Given the description of an element on the screen output the (x, y) to click on. 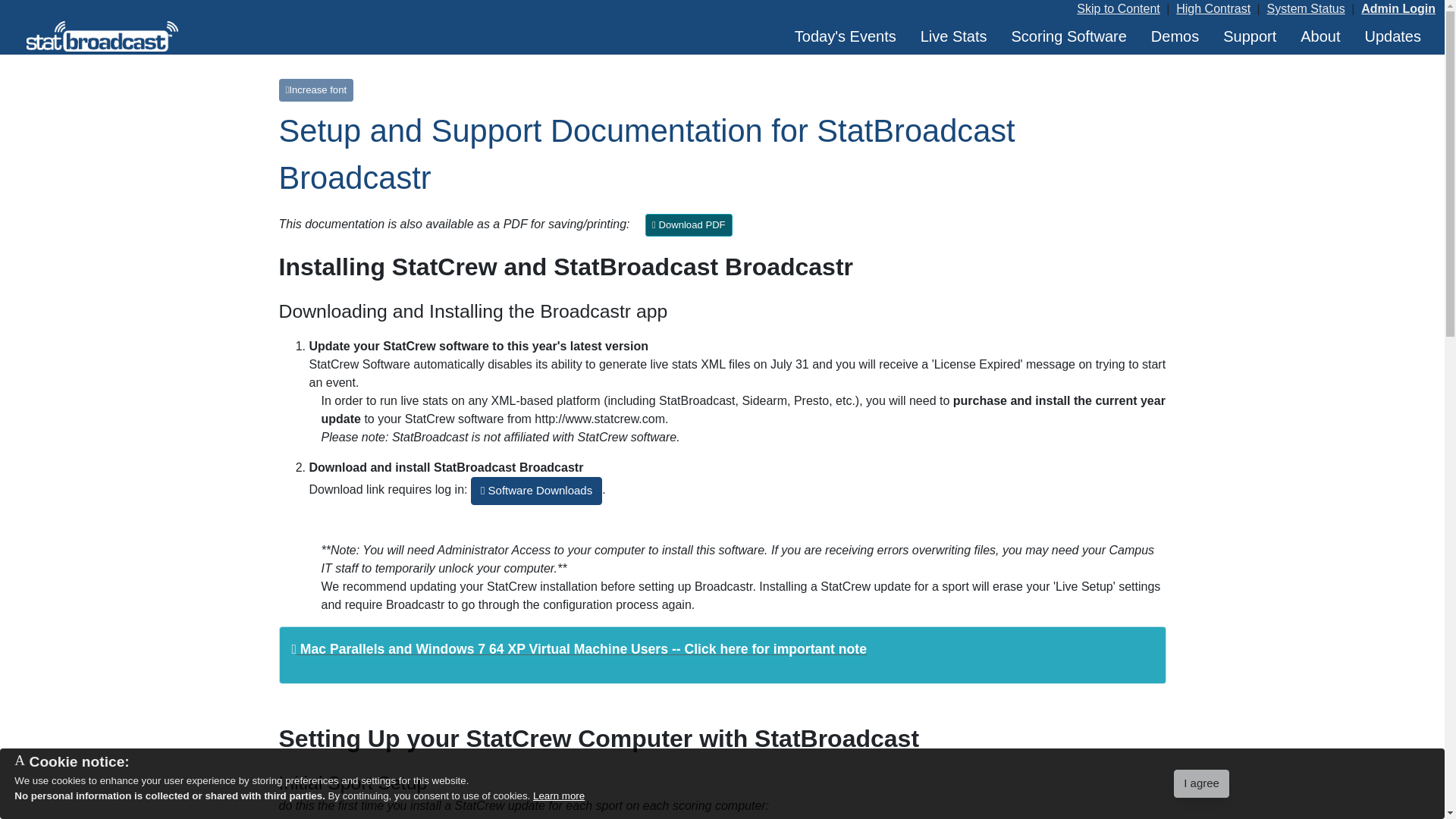
Scoring Software (1069, 35)
I agree (1200, 783)
Admin Login (1398, 8)
Download PDF (688, 224)
Support (1249, 35)
Live Stats (953, 35)
Skip to Content (1117, 8)
Learn more (558, 795)
Download PDF (688, 224)
Demos (1174, 35)
High Contrast (1213, 8)
Today's Events (845, 35)
About (1319, 35)
Updates (1393, 35)
